Given the description of an element on the screen output the (x, y) to click on. 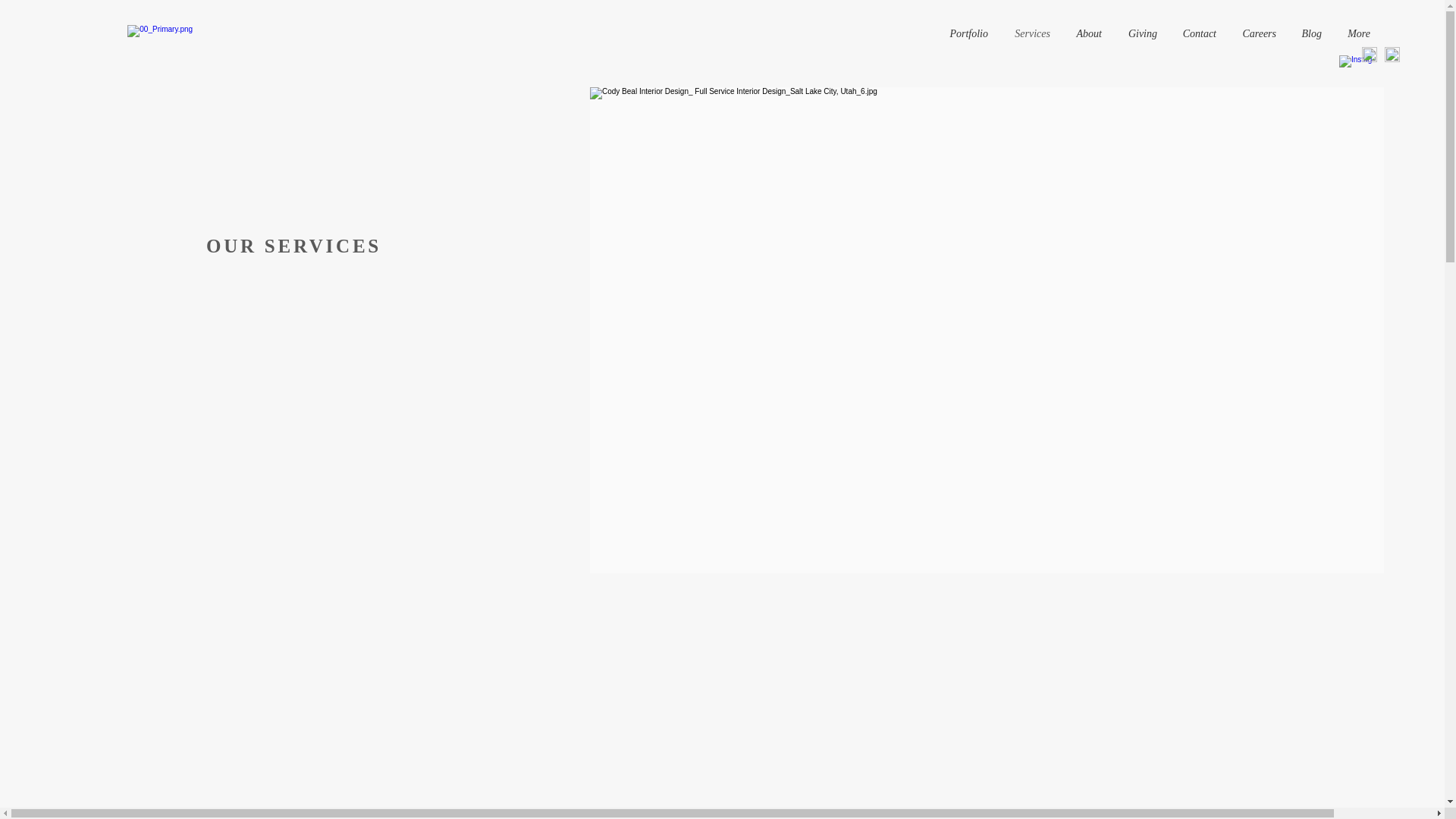
Contact (1198, 34)
Blog (1310, 34)
About (1087, 34)
Giving (1141, 34)
Careers (1257, 34)
Services (1029, 34)
